Given the description of an element on the screen output the (x, y) to click on. 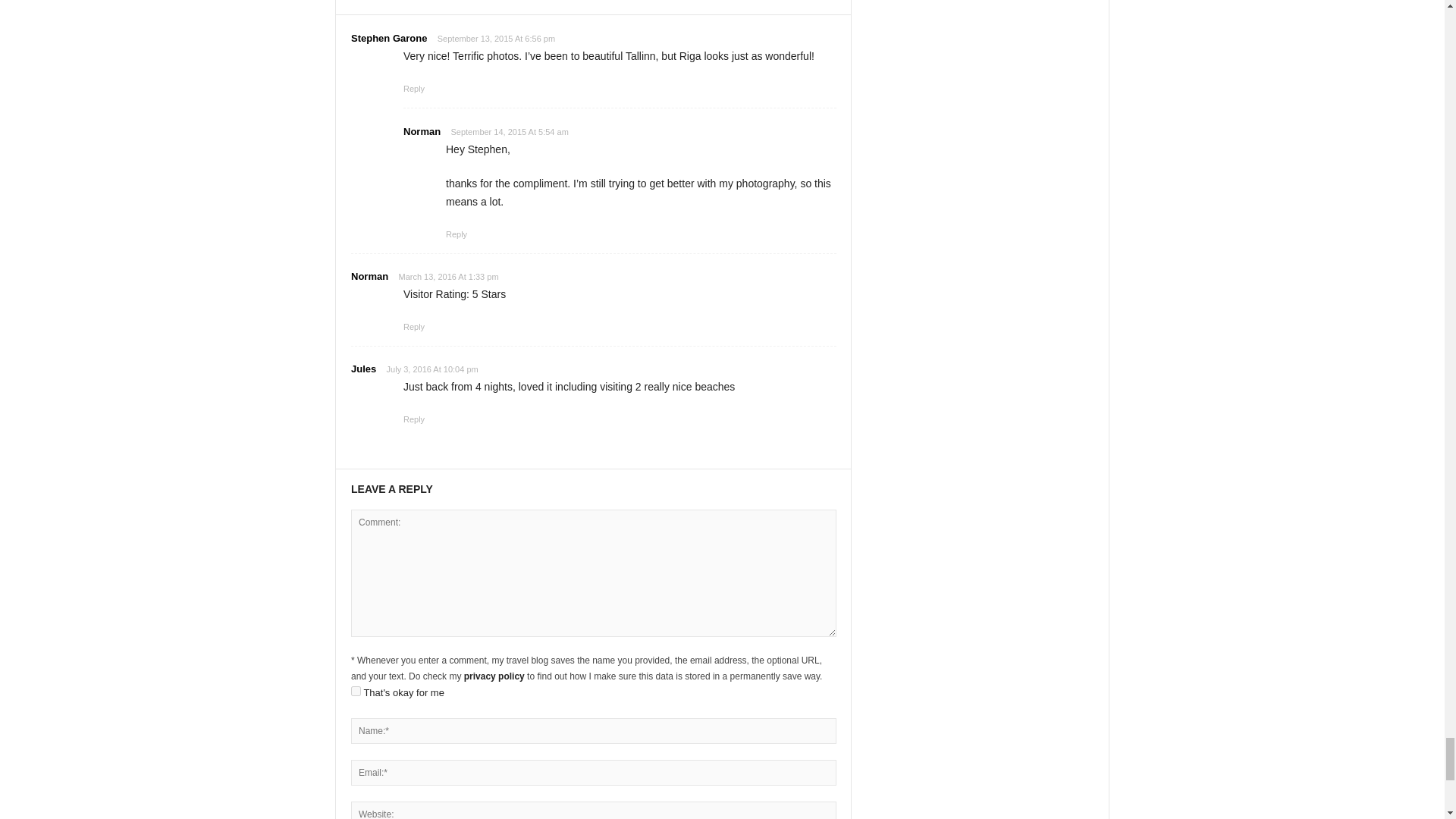
on (355, 691)
